Given the description of an element on the screen output the (x, y) to click on. 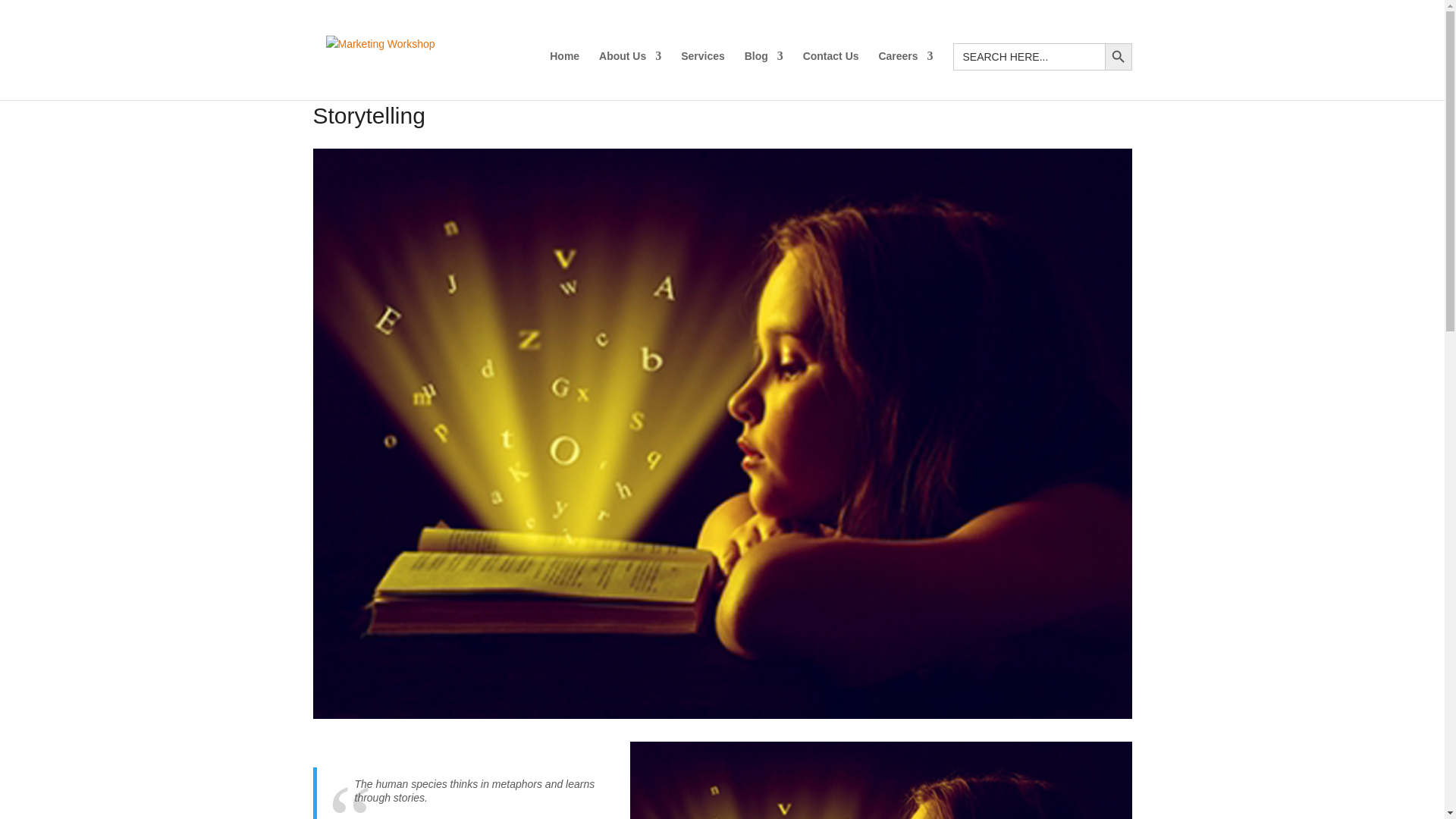
About Us (629, 68)
Contact Us (831, 68)
Search Button (1117, 56)
Blog (763, 68)
Careers (905, 68)
Services (703, 68)
